Given the description of an element on the screen output the (x, y) to click on. 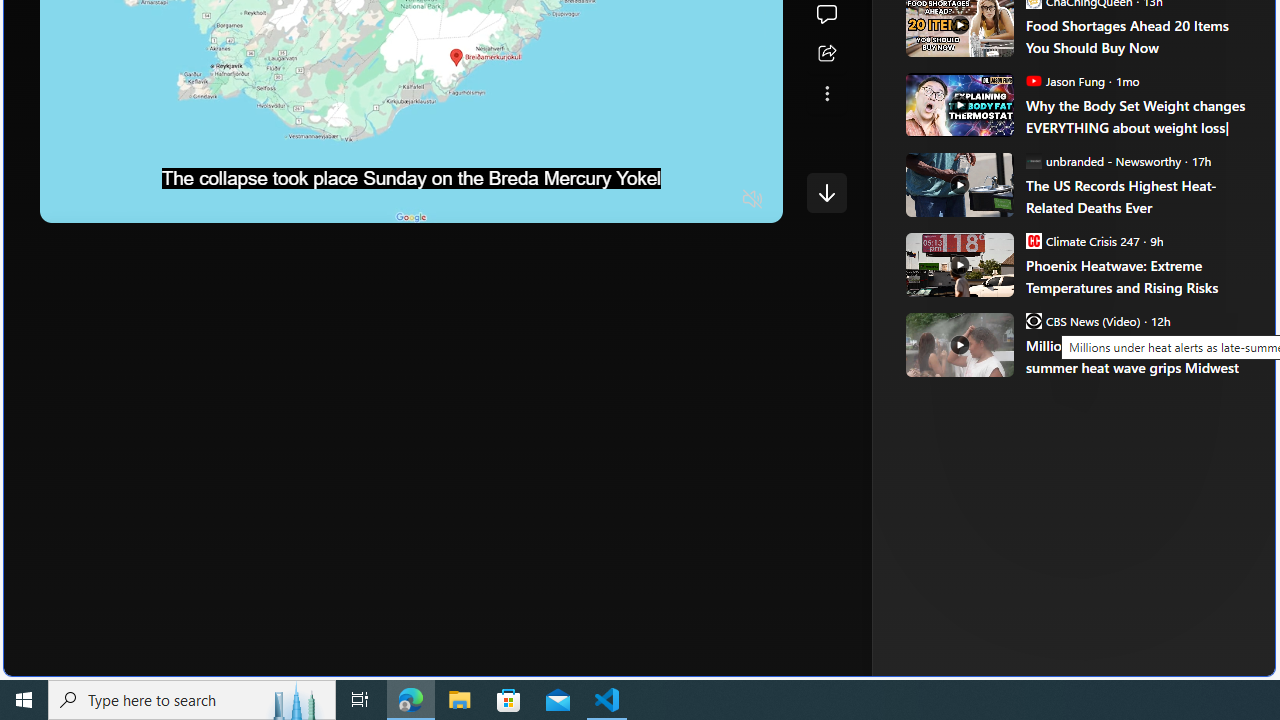
Seek Back (109, 200)
Progress Bar (411, 174)
Share this story (826, 53)
Jason Fung (1033, 80)
Quality Settings (634, 200)
The US Records Highest Heat-Related Deaths Ever (1136, 196)
CBS News (Video) (1033, 320)
Pause (69, 200)
